Given the description of an element on the screen output the (x, y) to click on. 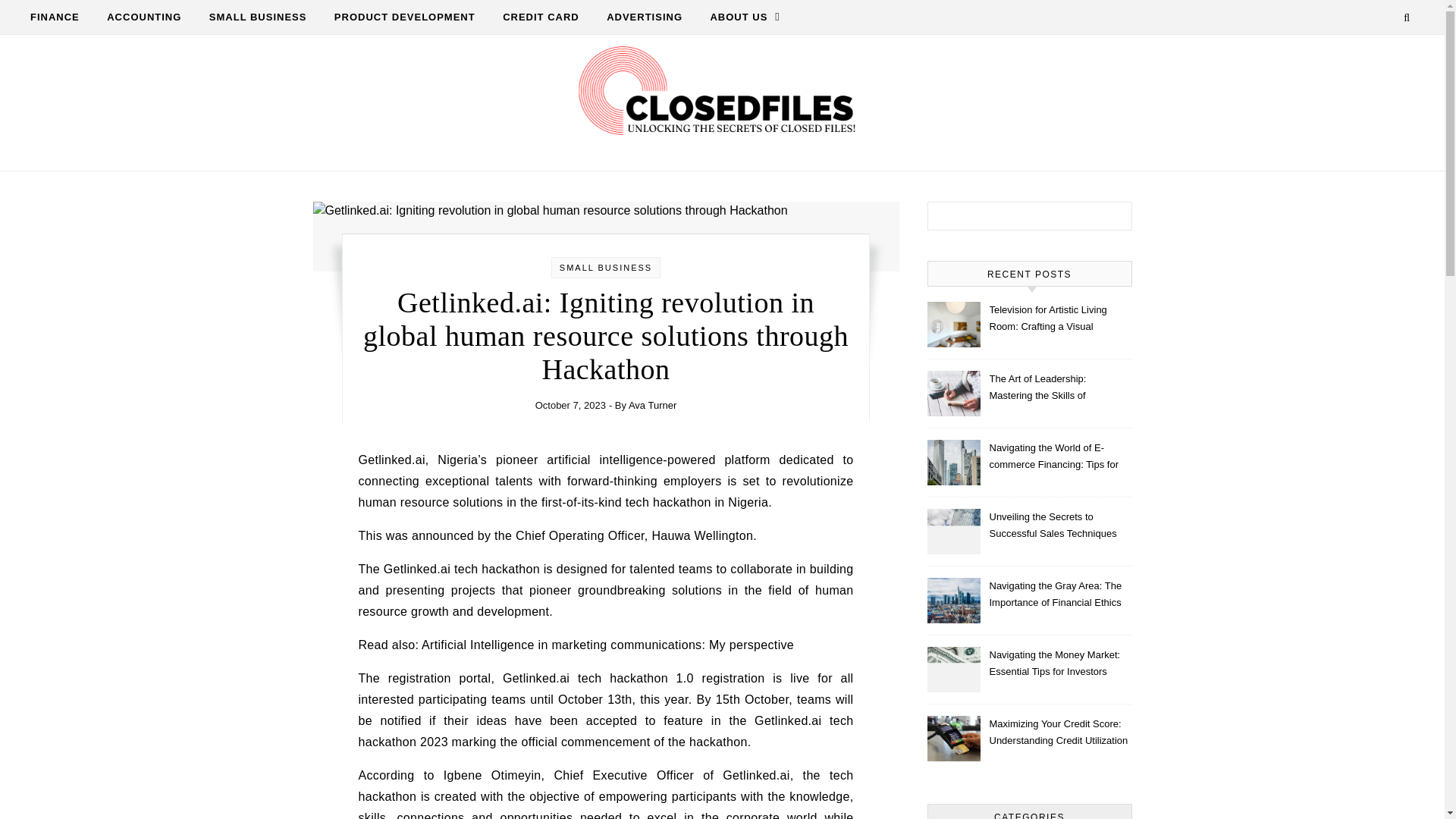
Posts by Ava Turner (652, 405)
SMALL BUSINESS (605, 266)
ACCOUNTING (143, 17)
ADVERTISING (644, 17)
PRODUCT DEVELOPMENT (404, 17)
CREDIT CARD (540, 17)
SMALL BUSINESS (257, 17)
FINANCE (60, 17)
ABOUT US (737, 17)
